Given the description of an element on the screen output the (x, y) to click on. 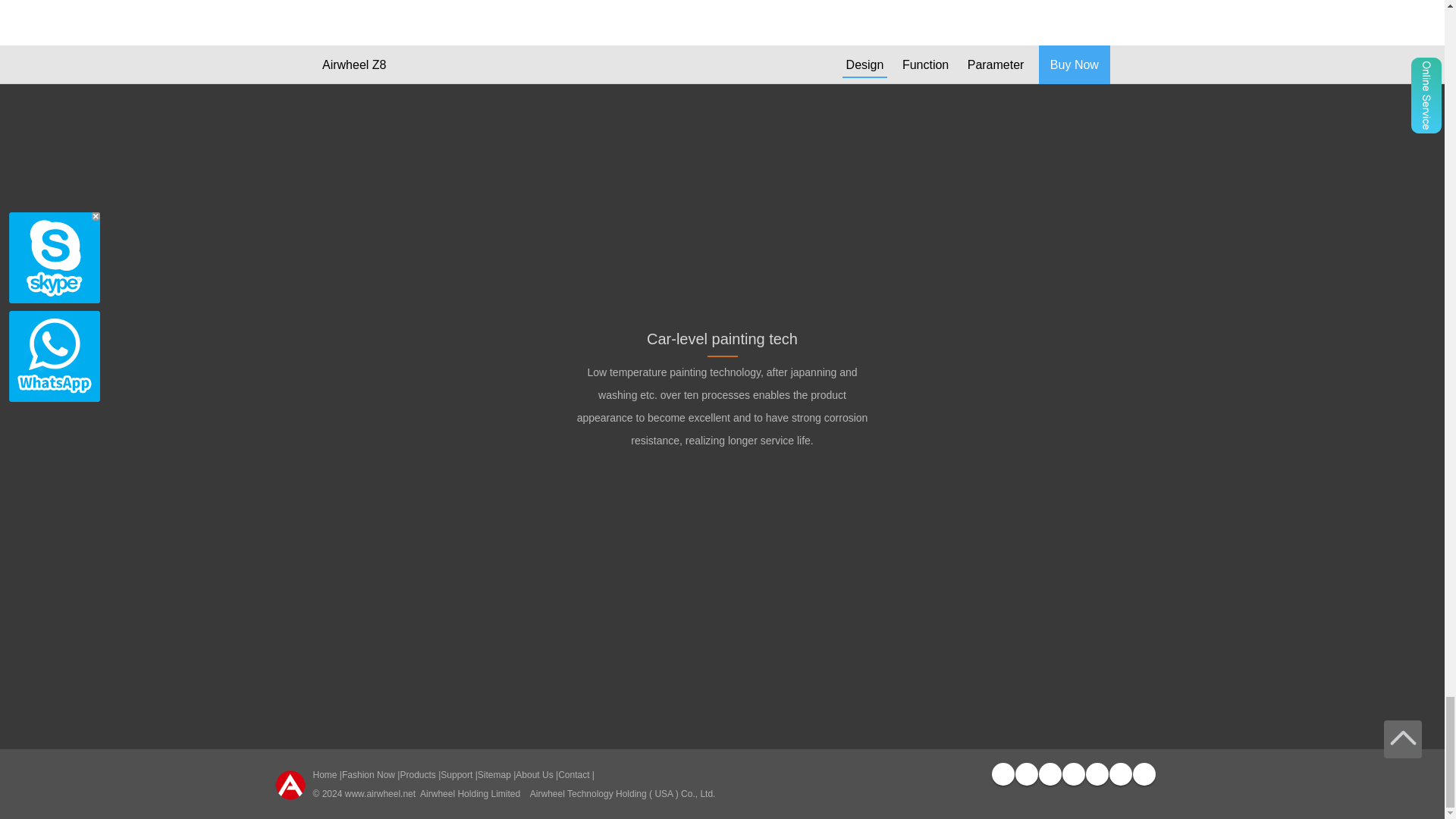
Airwheel Store (1072, 773)
Instagram (1097, 773)
Twitter (1025, 773)
Global (1144, 773)
Skype (1119, 773)
Facebook (1002, 773)
Youtube (1050, 773)
